Given the description of an element on the screen output the (x, y) to click on. 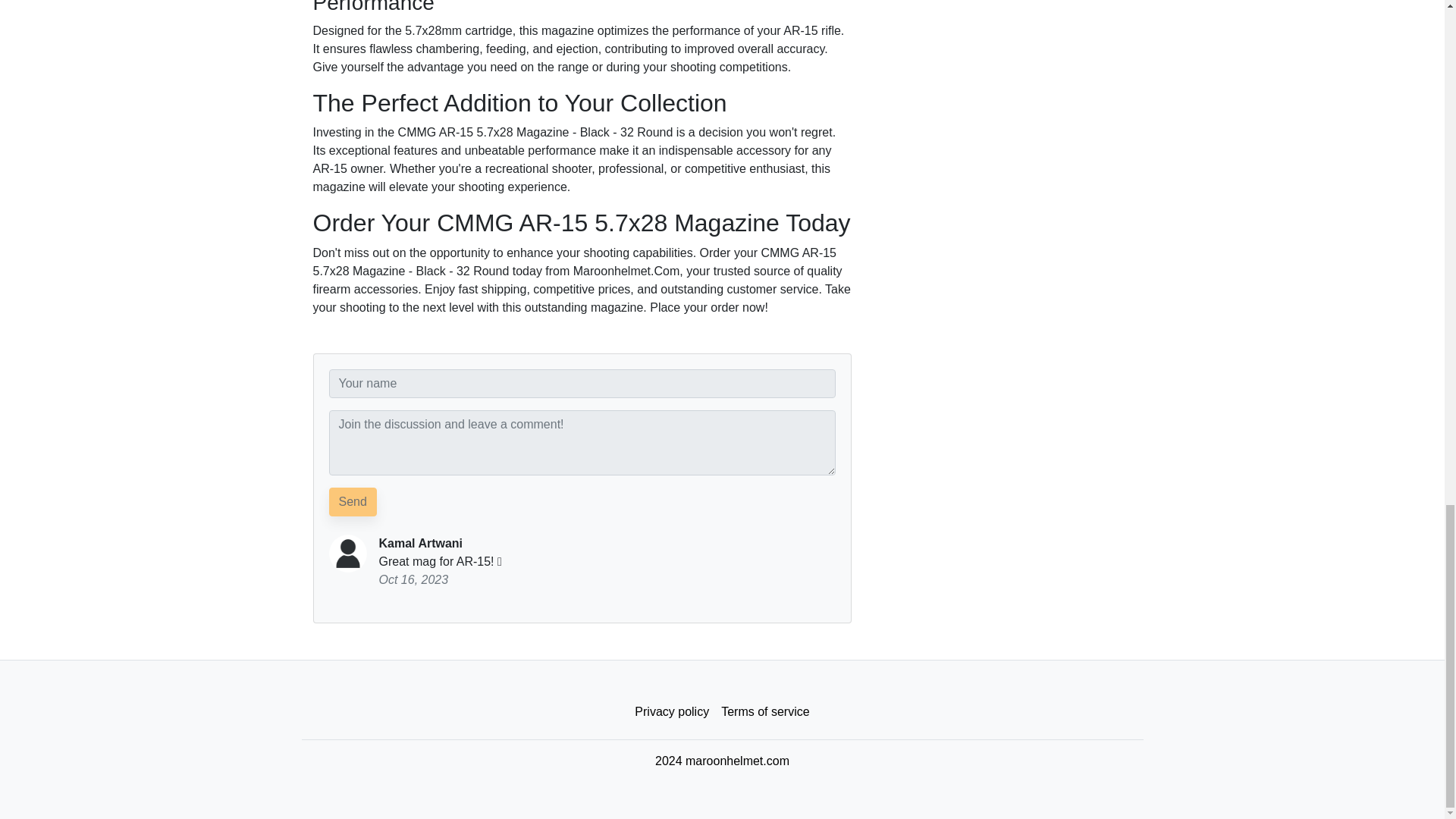
Send (353, 501)
Privacy policy (671, 711)
Send (353, 501)
